Given the description of an element on the screen output the (x, y) to click on. 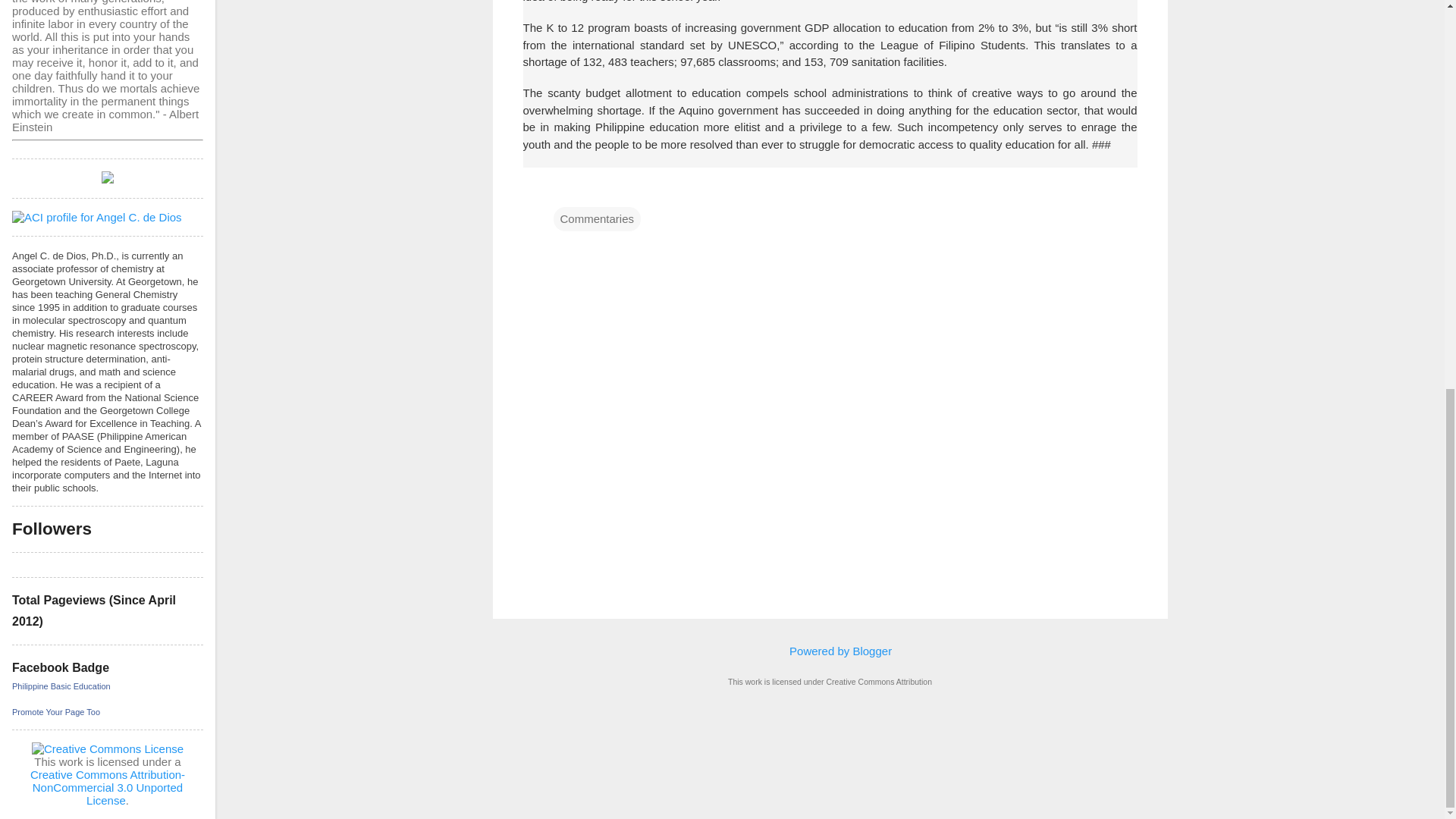
Commentaries (597, 218)
Powered by Blogger (829, 650)
